Given the description of an element on the screen output the (x, y) to click on. 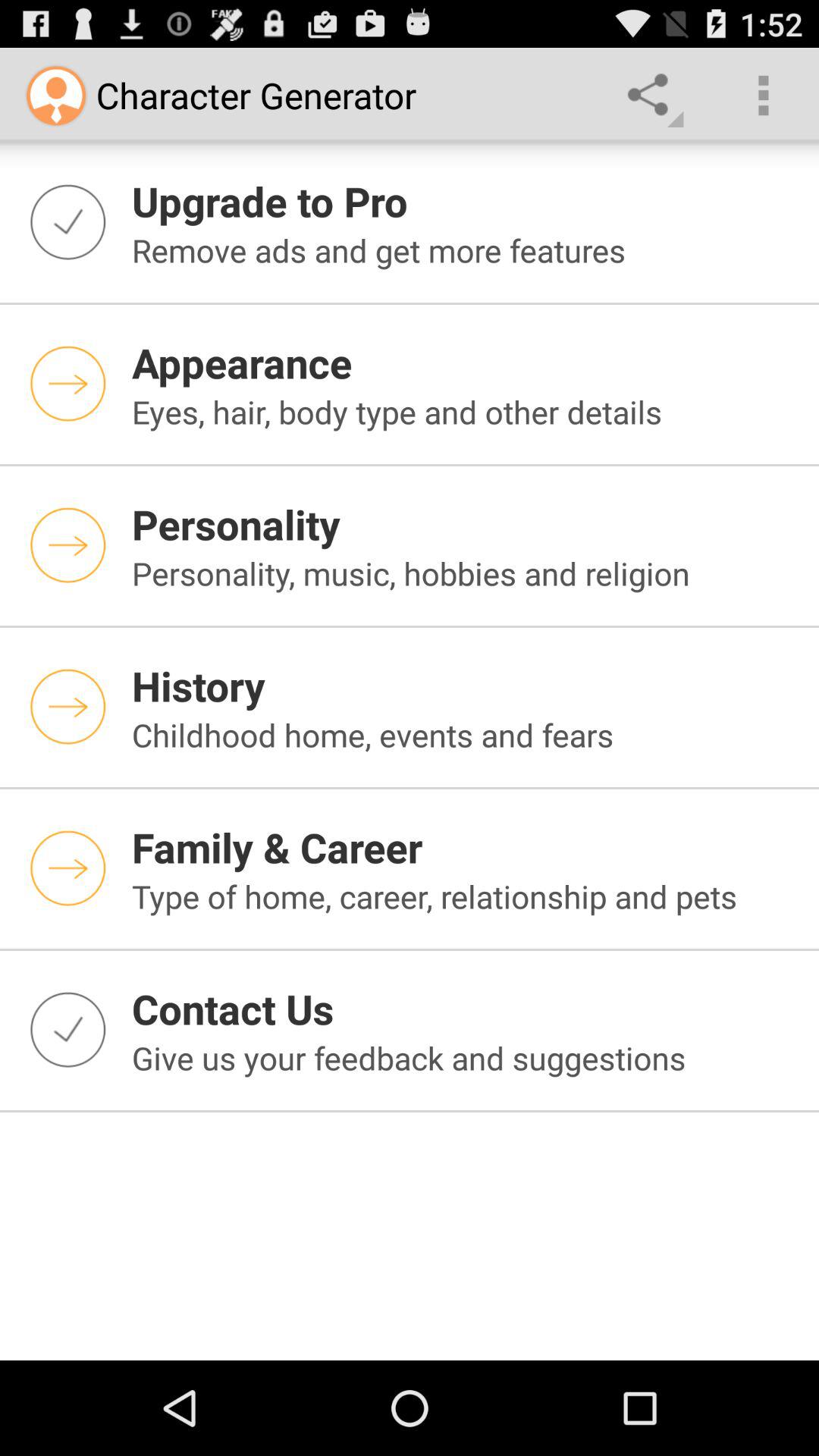
select item below contact us icon (465, 1057)
